Given the description of an element on the screen output the (x, y) to click on. 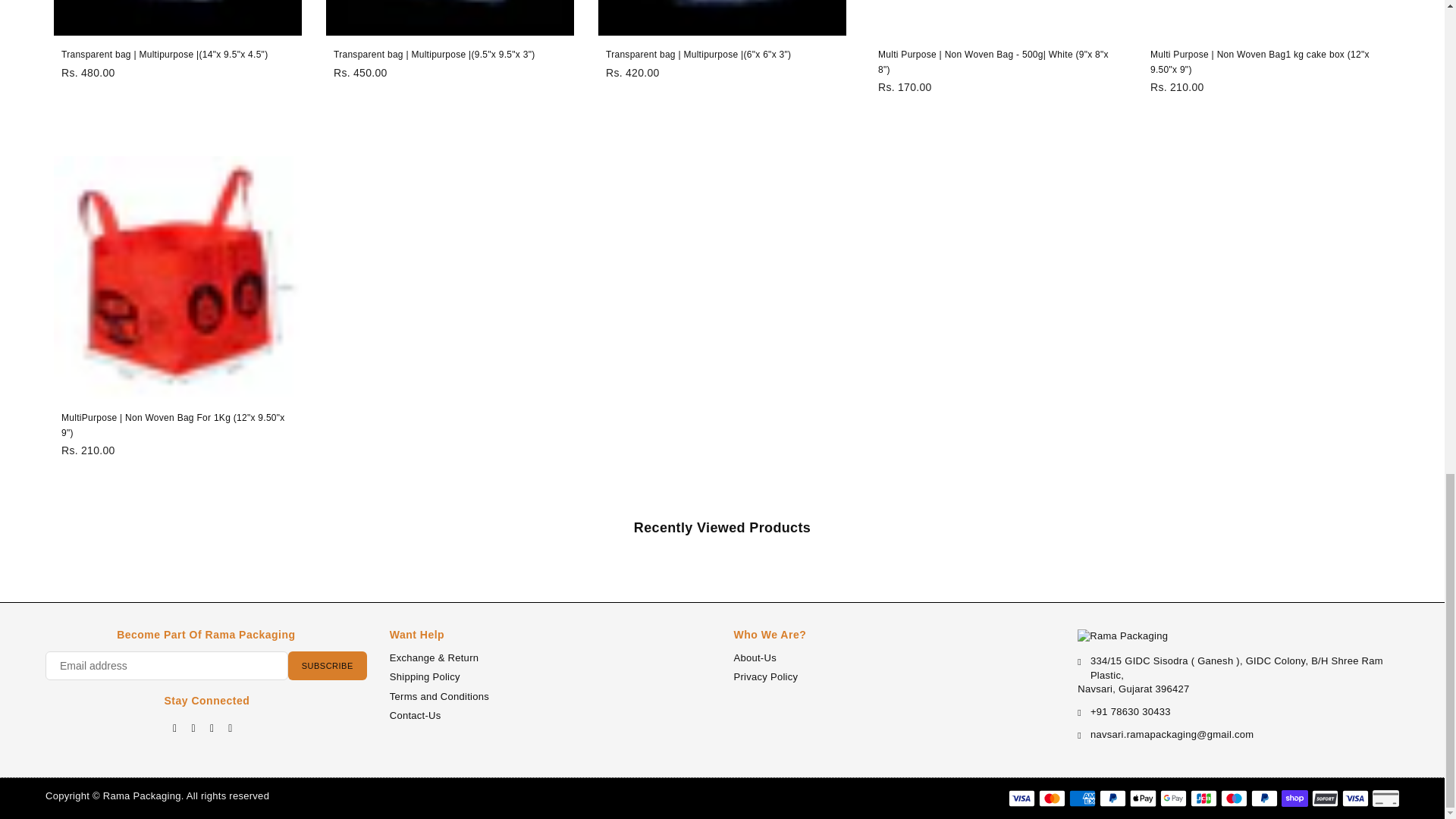
Generic (1386, 798)
PayPal (1112, 798)
JCB (1204, 798)
Apple Pay (1142, 798)
SOFORT (1324, 798)
Google Pay (1173, 798)
Mastercard (1052, 798)
American Express (1082, 798)
Maestro (1234, 798)
Visa (1022, 798)
